Given the description of an element on the screen output the (x, y) to click on. 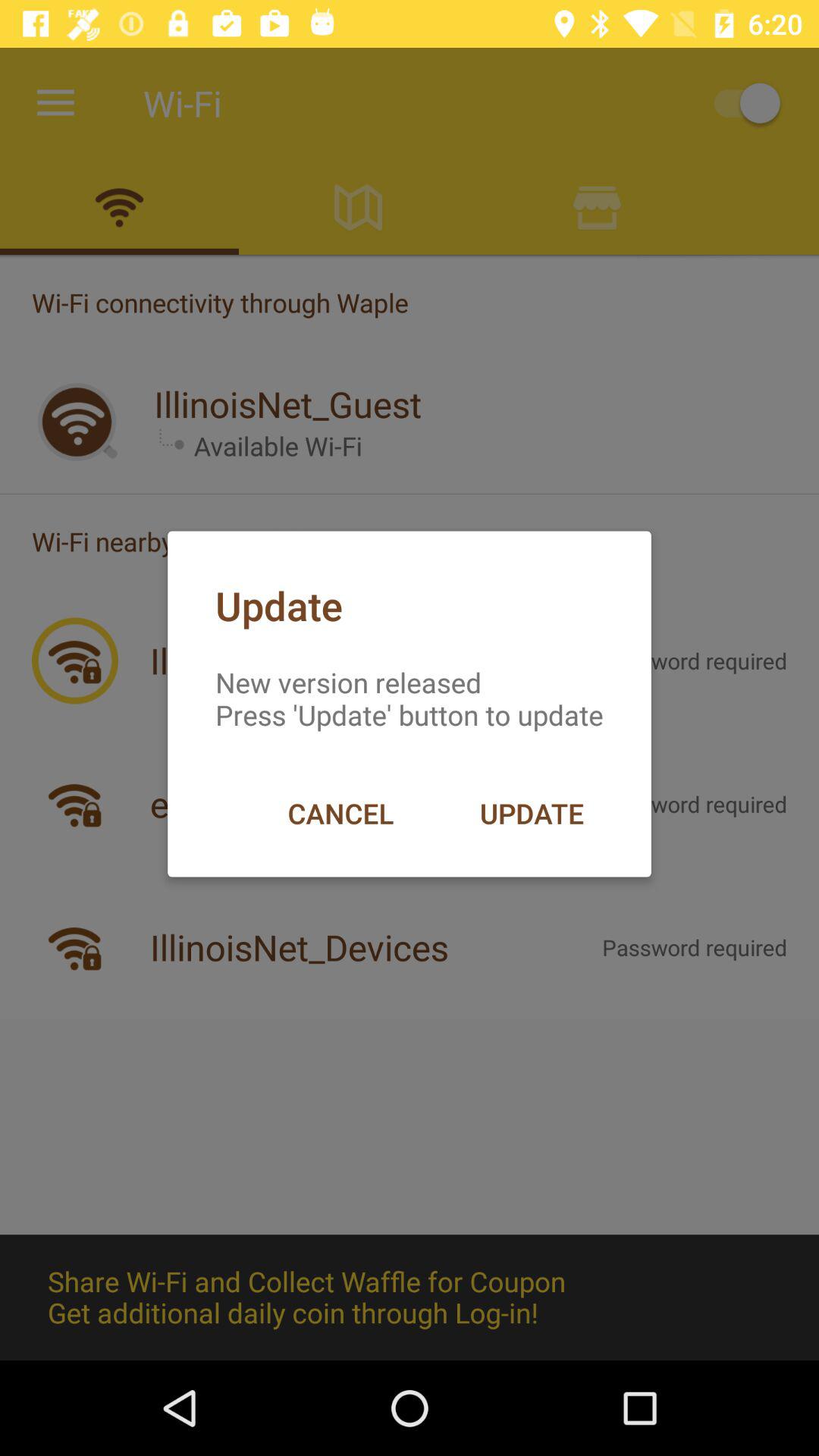
press cancel (340, 813)
